Given the description of an element on the screen output the (x, y) to click on. 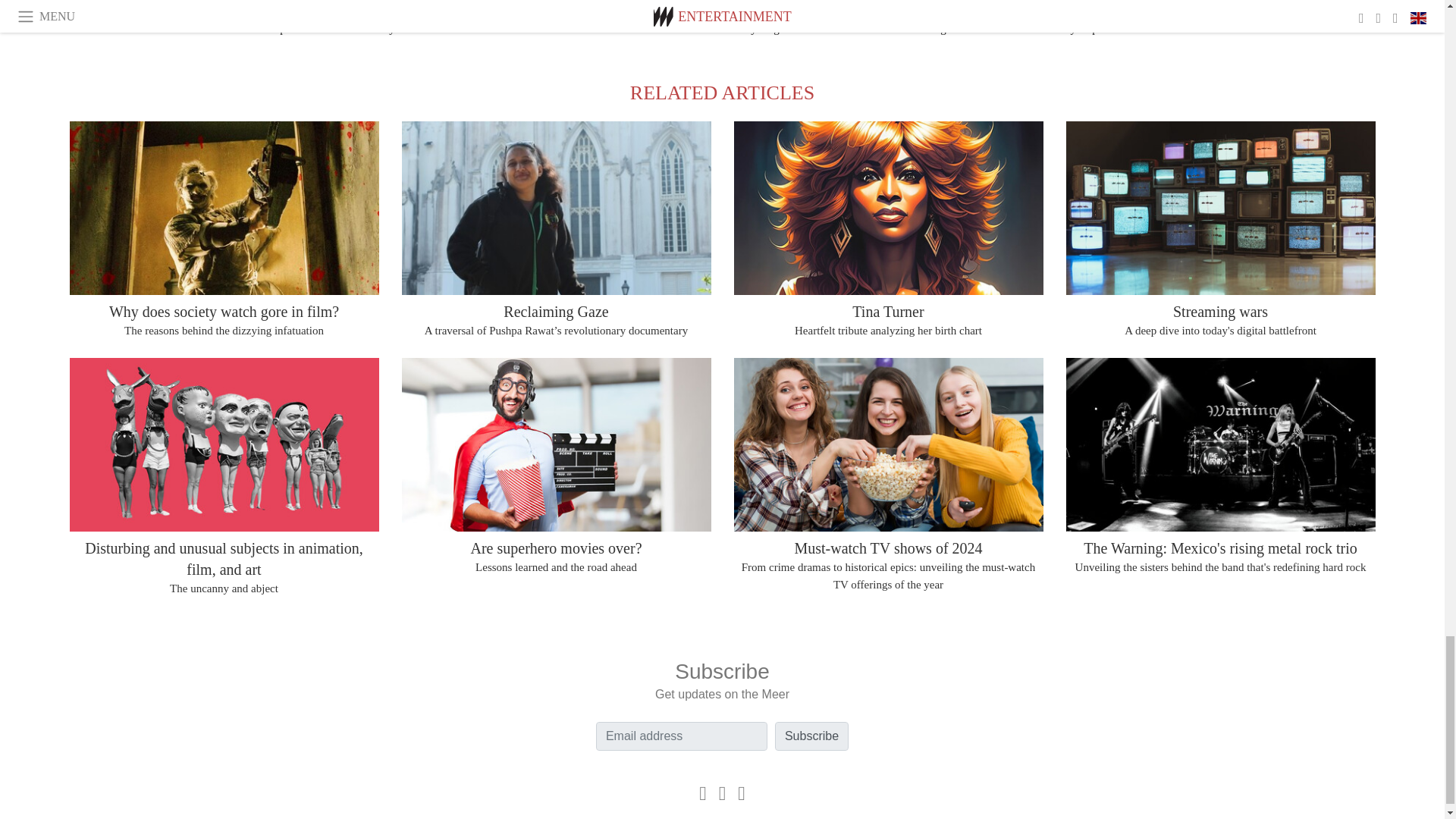
Subscribe (811, 736)
